Given the description of an element on the screen output the (x, y) to click on. 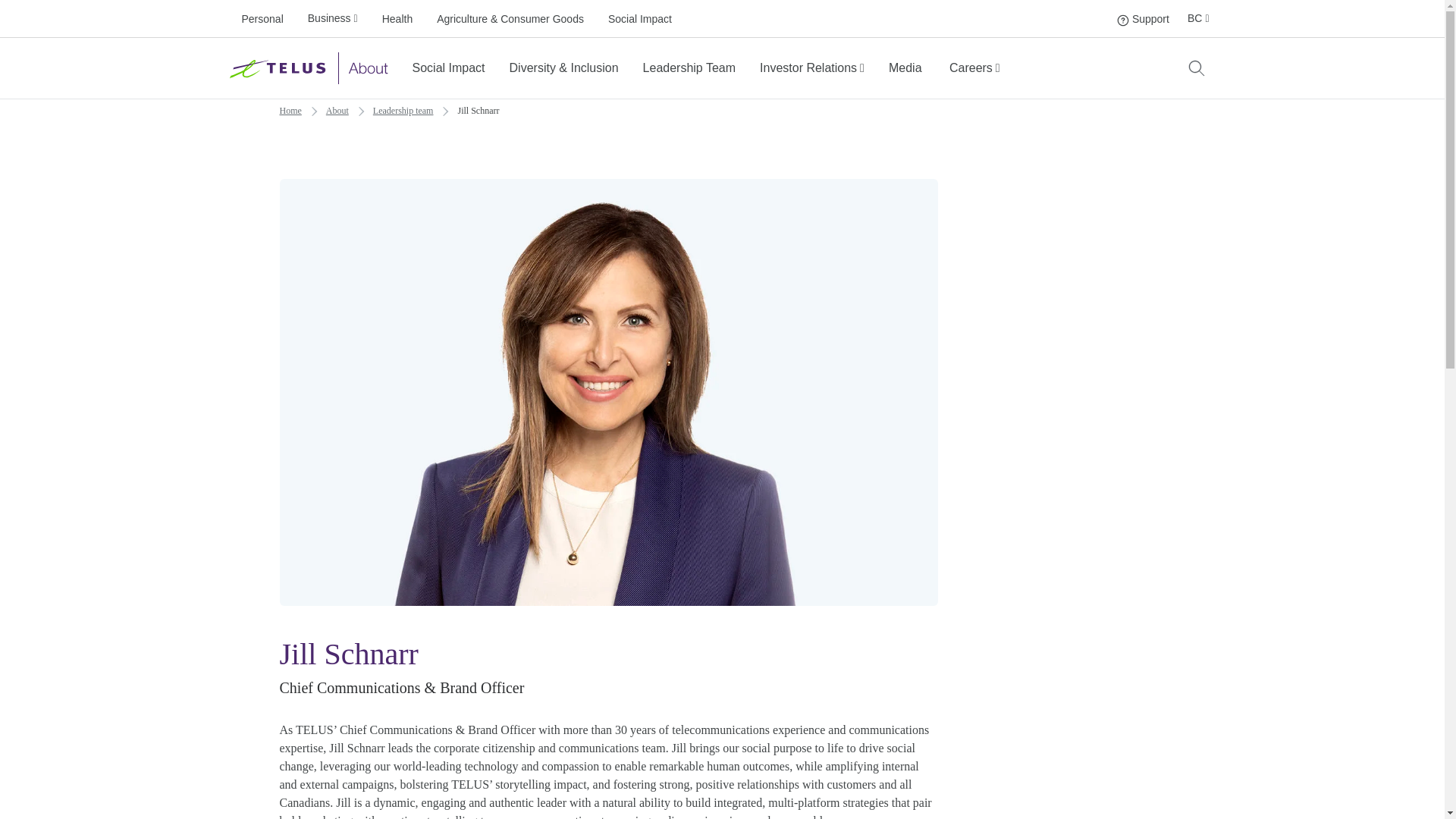
Personal (261, 18)
Home (1142, 18)
Support (290, 109)
About (1122, 20)
Health (337, 109)
Business (397, 18)
Investor Relations (332, 18)
Leadership team (812, 67)
Social Impact (402, 109)
BC (448, 67)
Media (1197, 18)
Social Impact (904, 67)
Leadership Team (640, 18)
